Given the description of an element on the screen output the (x, y) to click on. 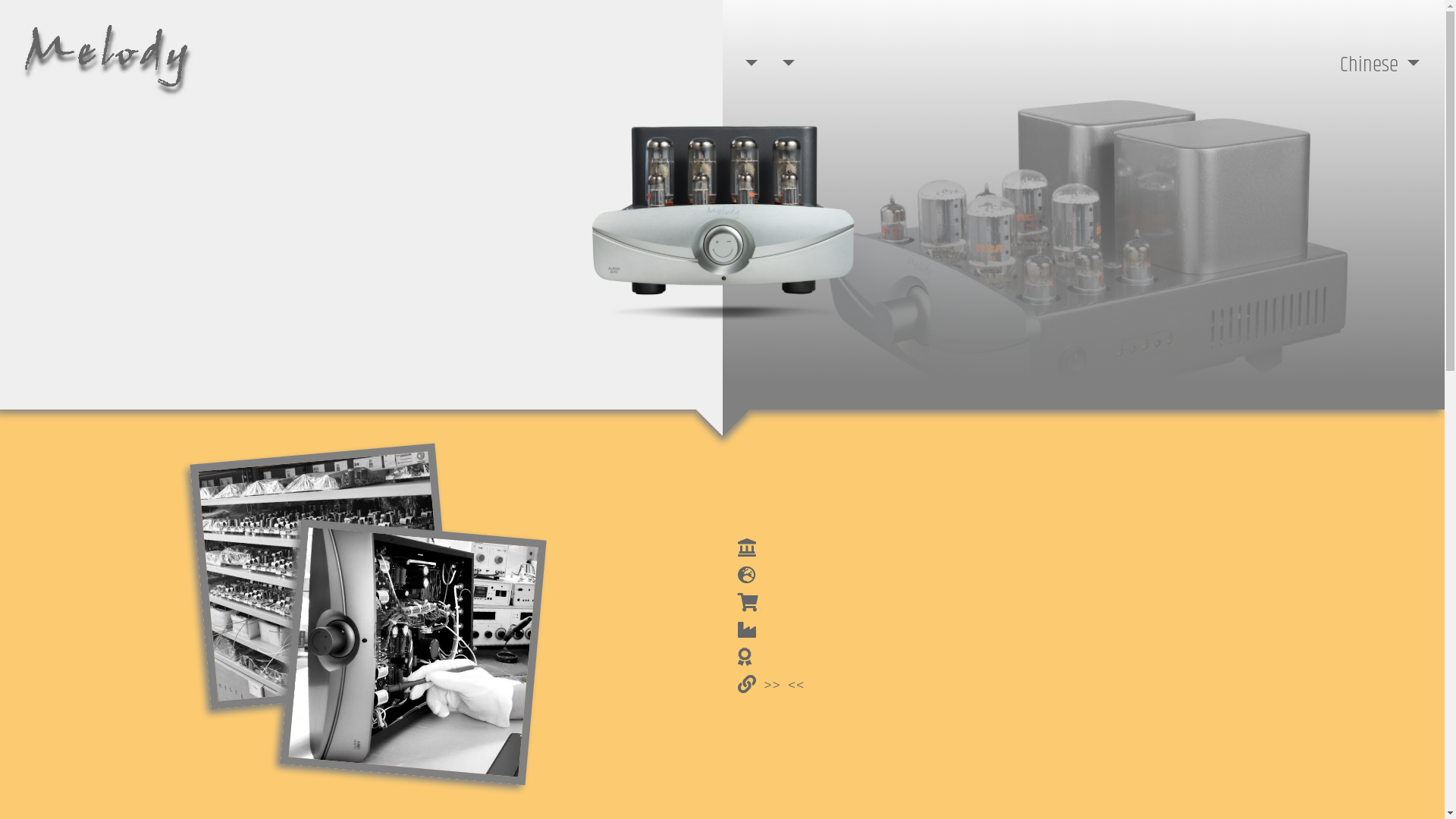
  >>  << Element type: text (770, 685)
Chinese Element type: text (1379, 65)
